Given the description of an element on the screen output the (x, y) to click on. 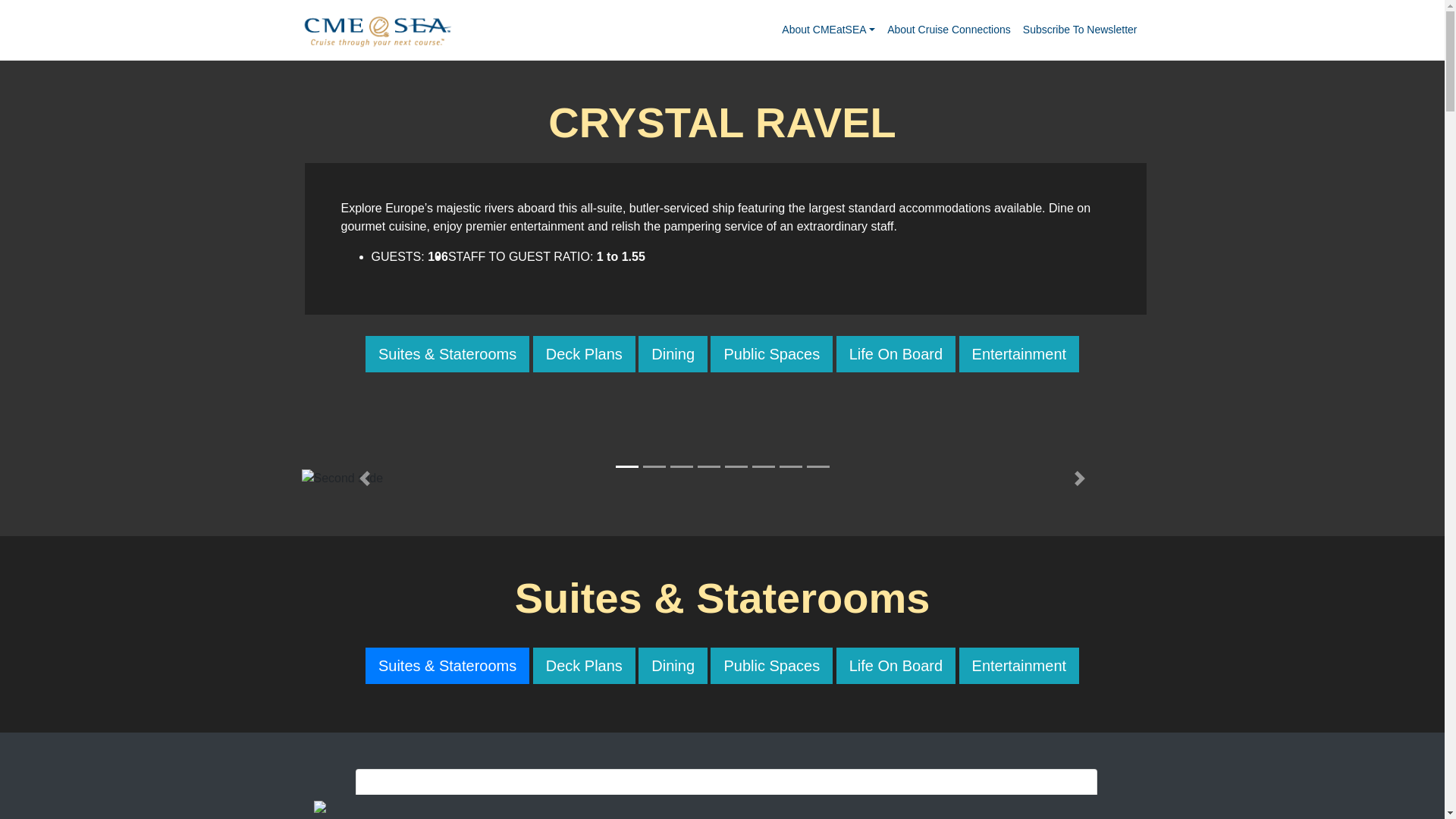
Subscribe To Newsletter (1079, 29)
About CMEatSEA (828, 29)
About Cruise Connections (948, 29)
About CMEatSEA (828, 29)
About Cruise Connections (948, 29)
Subscribe To Newsletter (1079, 29)
